Given the description of an element on the screen output the (x, y) to click on. 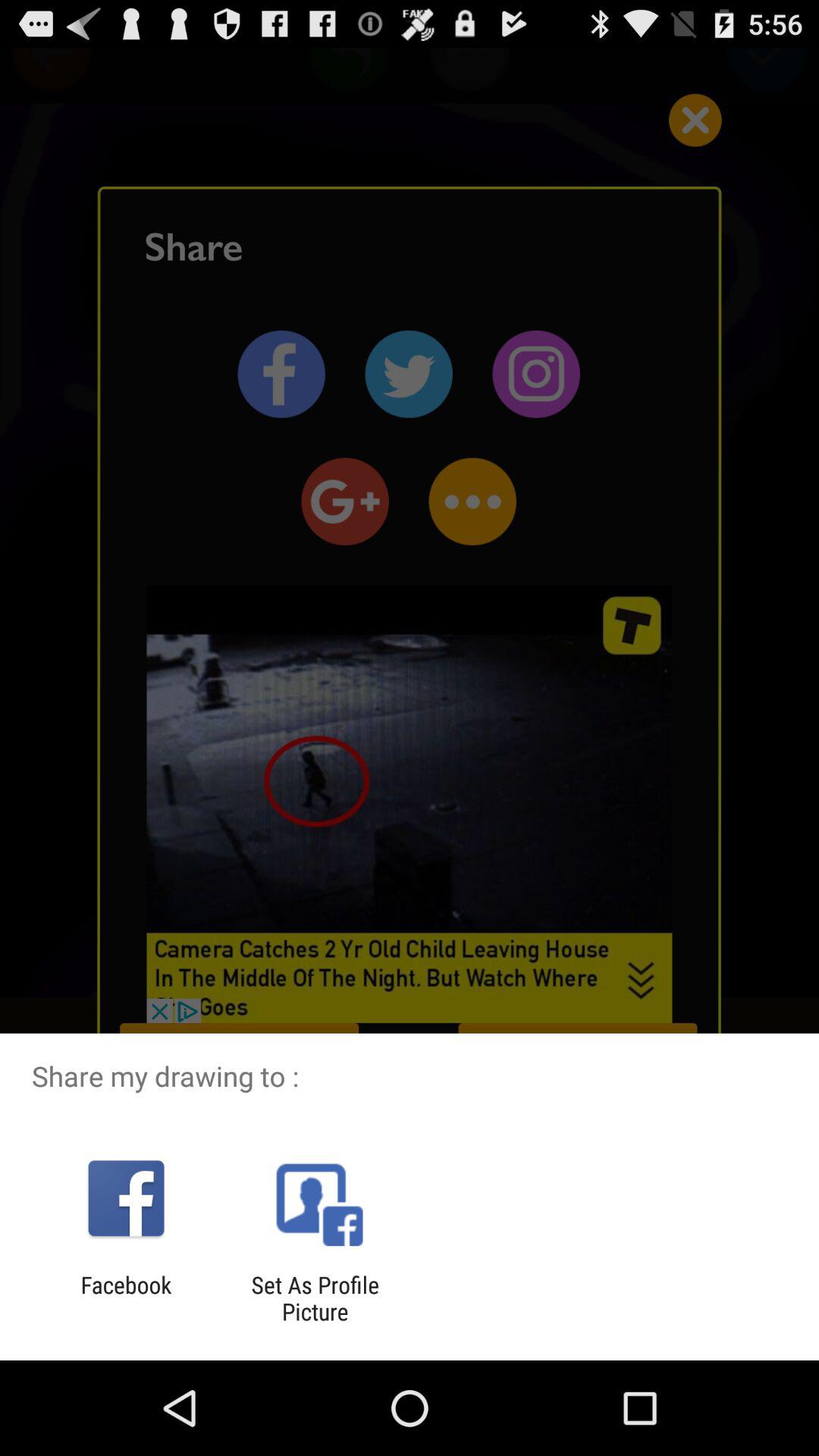
swipe until set as profile icon (314, 1298)
